Given the description of an element on the screen output the (x, y) to click on. 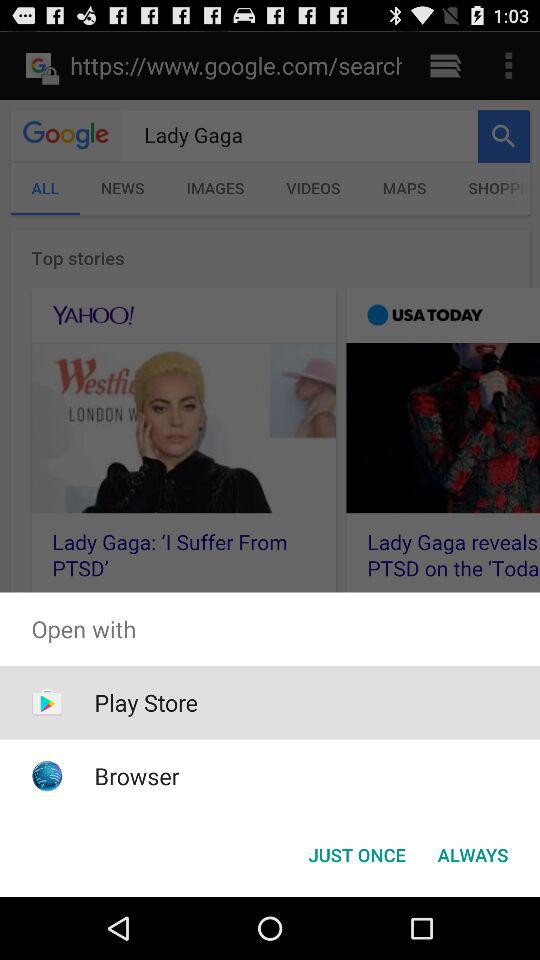
launch item to the right of just once button (472, 854)
